Given the description of an element on the screen output the (x, y) to click on. 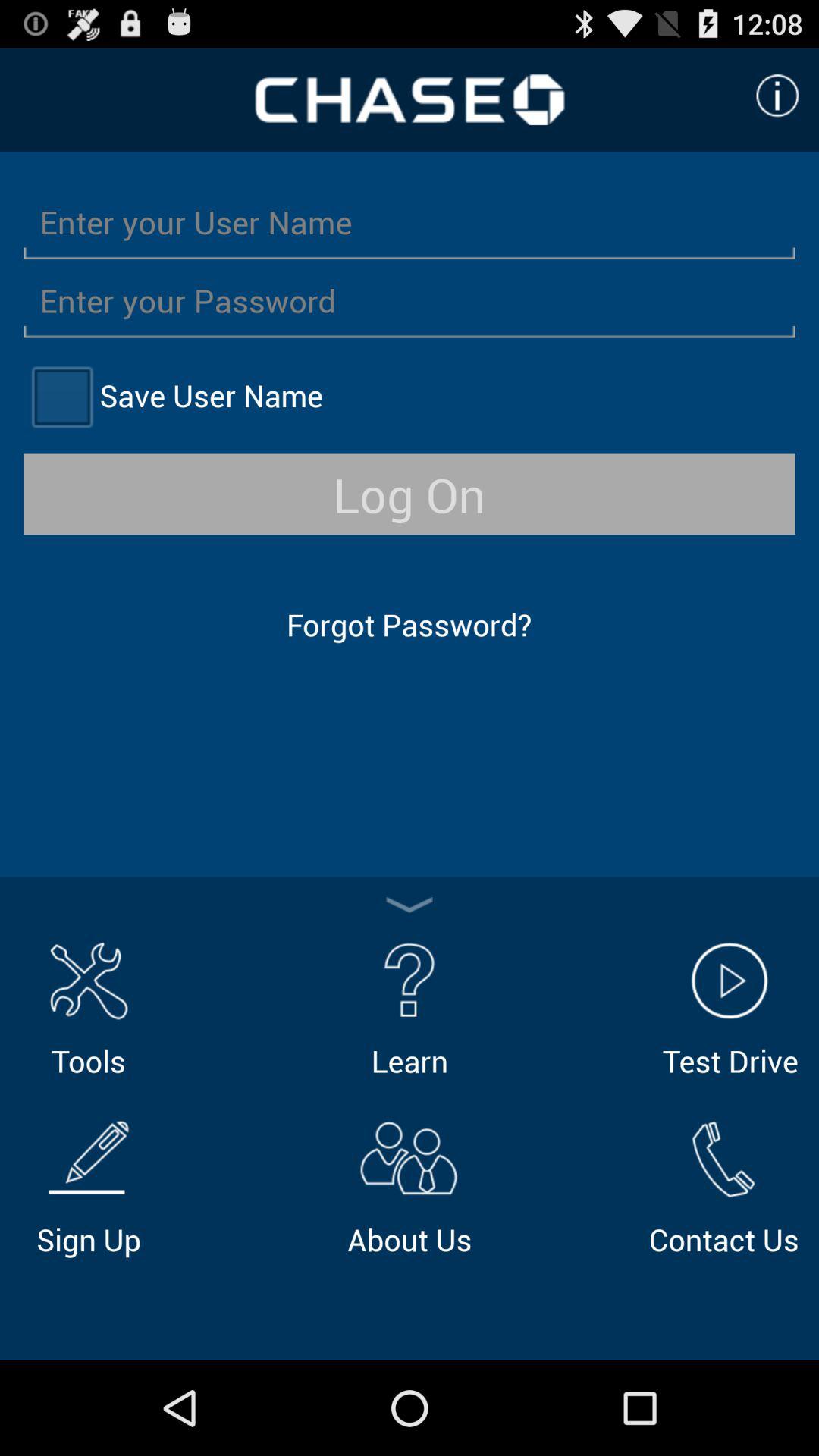
so you can enter your user name (409, 221)
